Given the description of an element on the screen output the (x, y) to click on. 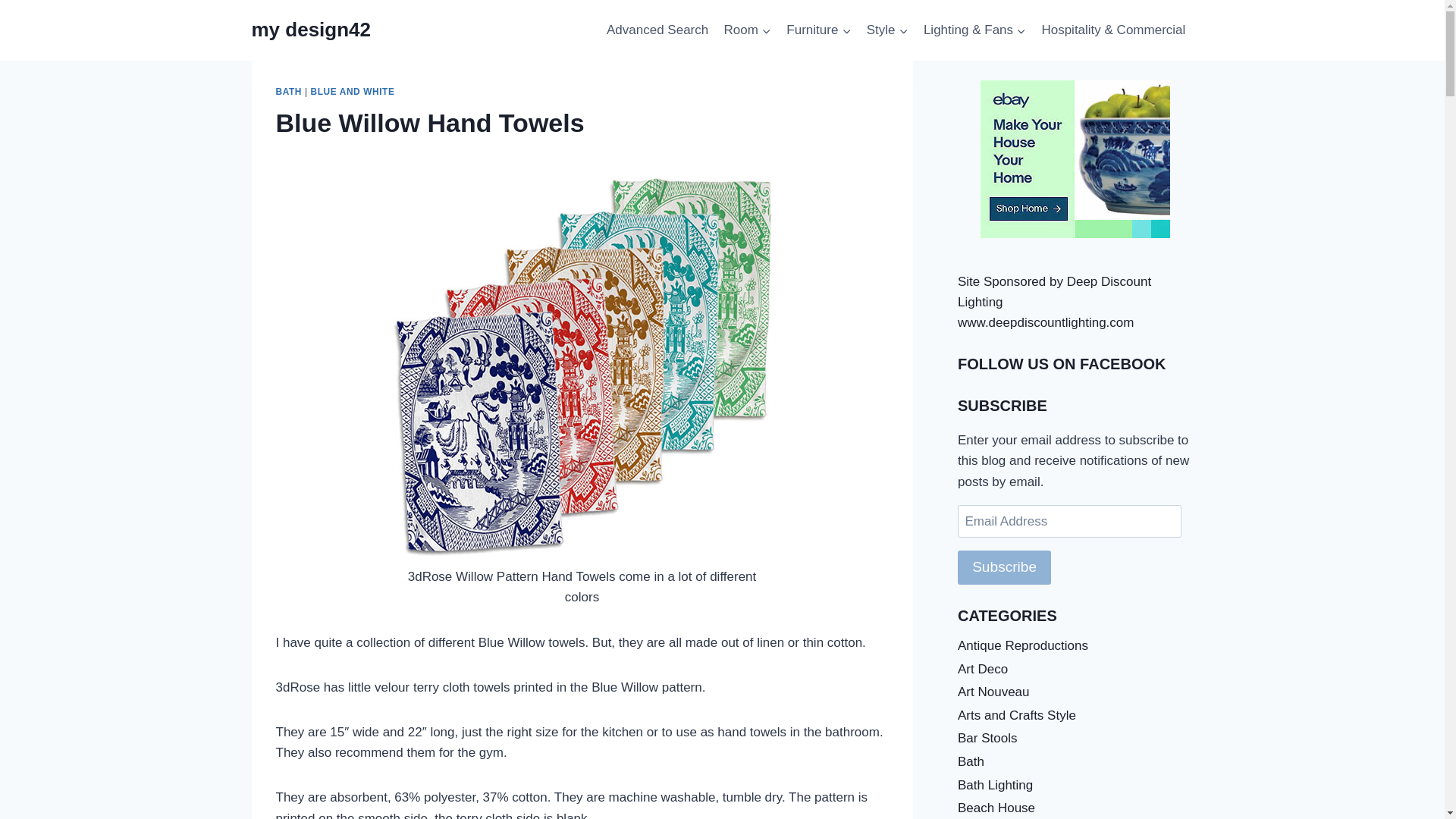
Room (747, 30)
Furniture (818, 30)
my design42 (311, 29)
Advanced Search (657, 30)
Style (887, 30)
